Given the description of an element on the screen output the (x, y) to click on. 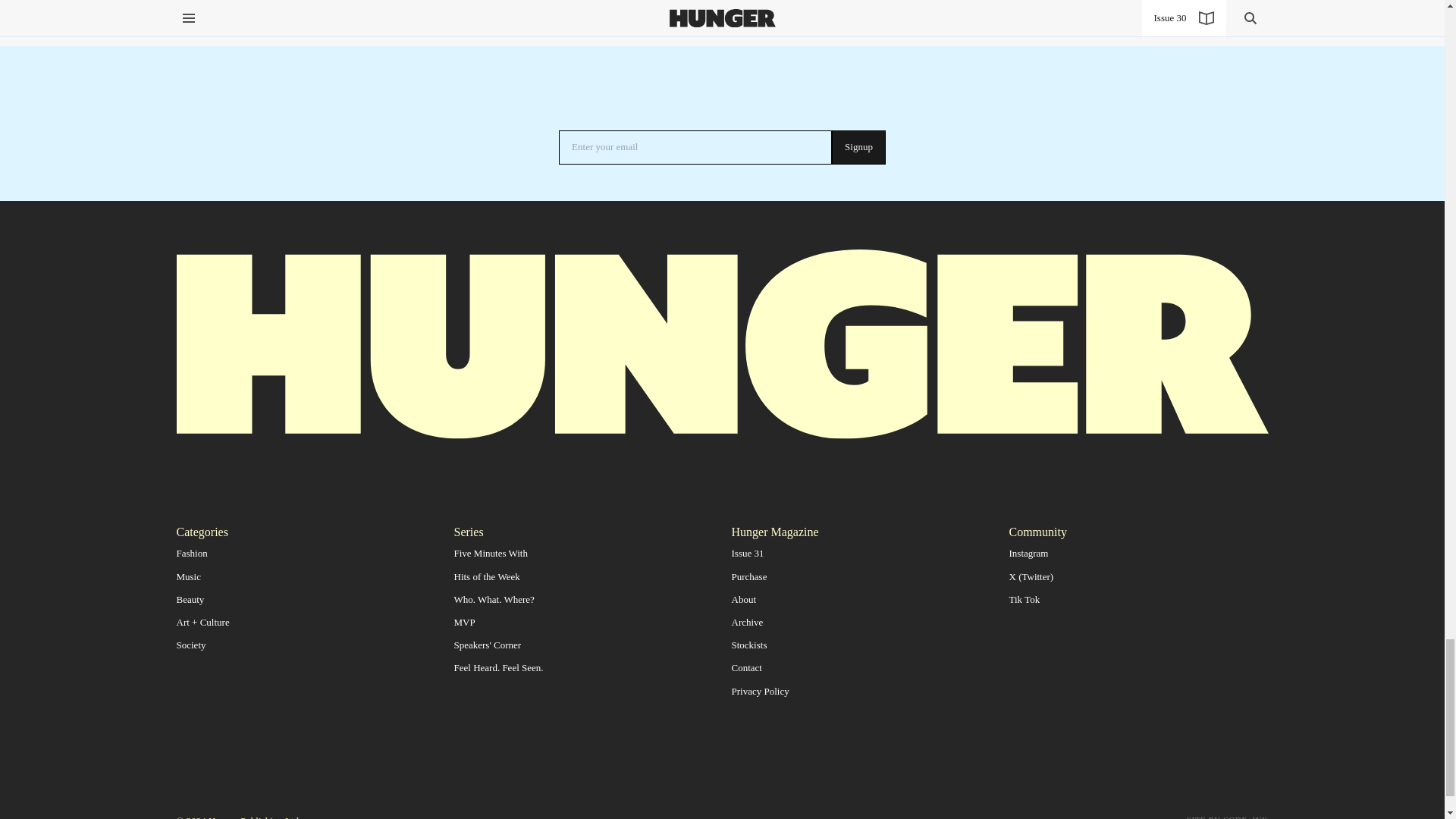
Beauty (189, 599)
Feel Heard. Feel Seen. (497, 667)
Five Minutes With (489, 552)
Fashion (191, 552)
Purchase (748, 576)
Who. What. Where? (493, 599)
Issue 31 (746, 552)
Music (188, 576)
Speakers' Corner (486, 644)
Society (190, 644)
